Given the description of an element on the screen output the (x, y) to click on. 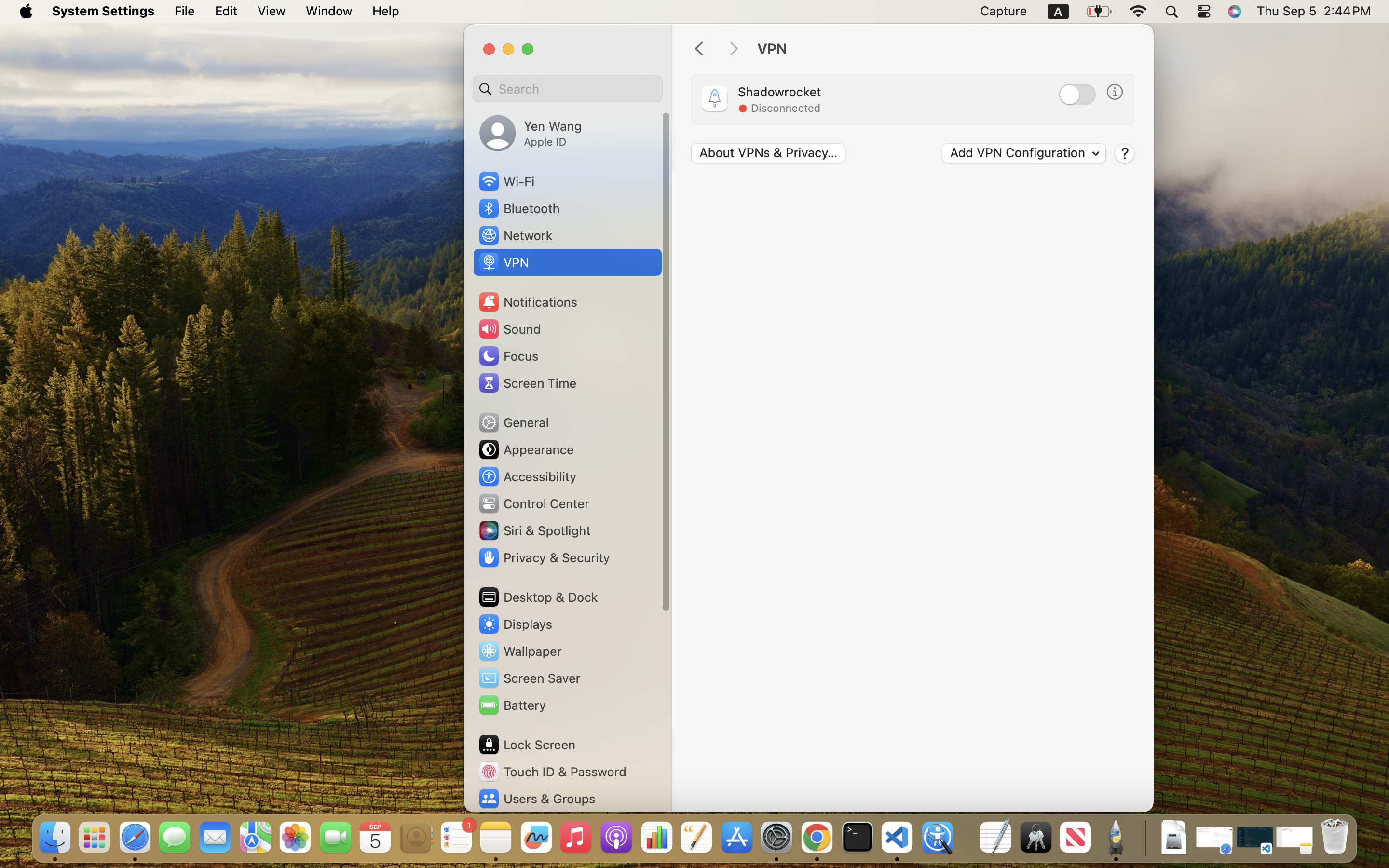
Battery Element type: AXStaticText (511, 704)
Screen Time Element type: AXStaticText (526, 382)
Shadowrocket Element type: AXStaticText (778, 91)
Network Element type: AXStaticText (514, 234)
